Given the description of an element on the screen output the (x, y) to click on. 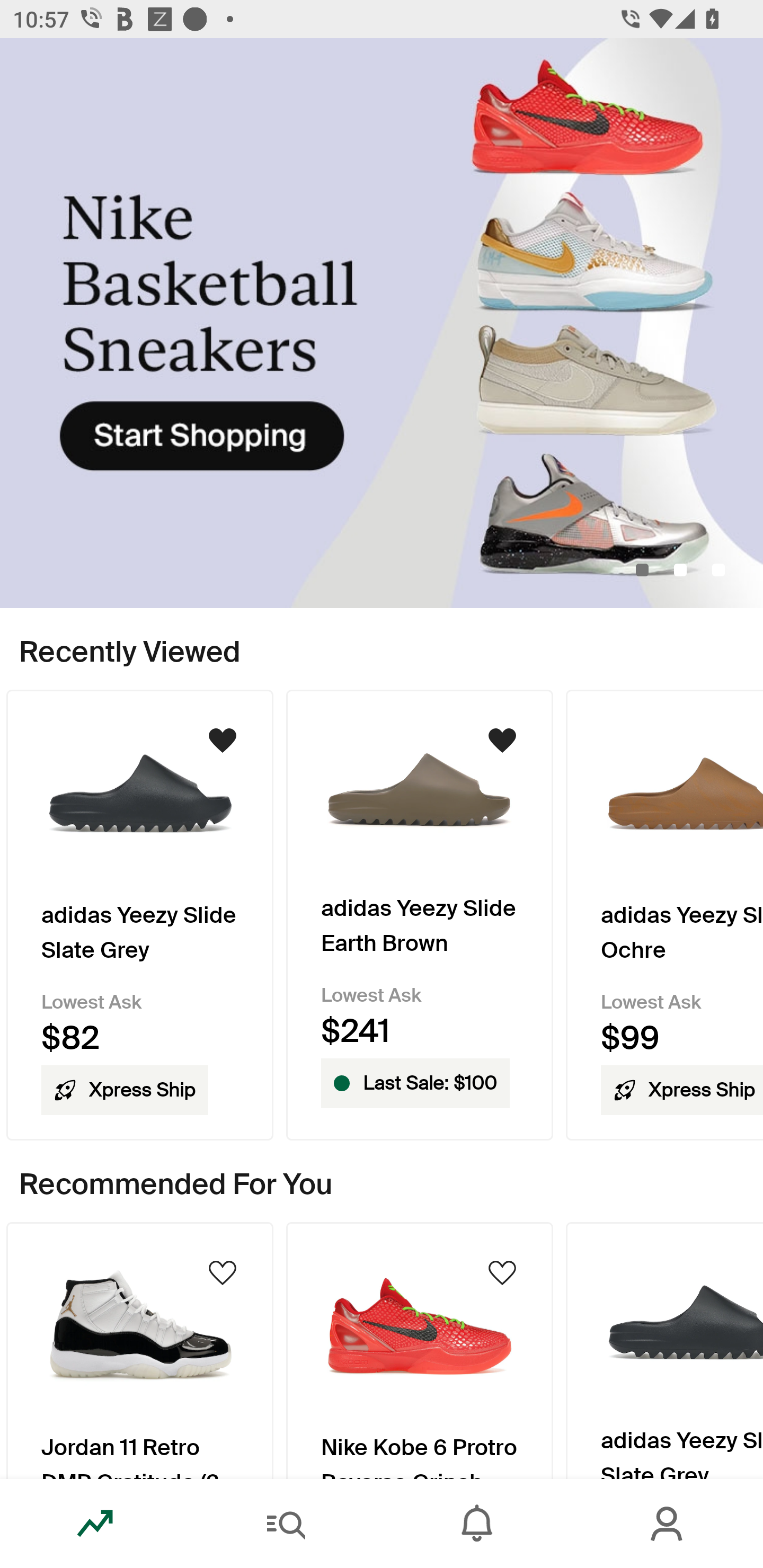
NikeBasketballSprint_Followup_Primary_Mobile.jpg (381, 322)
Product Image Jordan 11 Retro DMP Gratitude (2023) (139, 1349)
Product Image Nike Kobe 6 Protro Reverse Grinch (419, 1349)
Product Image adidas Yeezy Slide Slate Grey (664, 1349)
Search (285, 1523)
Inbox (476, 1523)
Account (667, 1523)
